Given the description of an element on the screen output the (x, y) to click on. 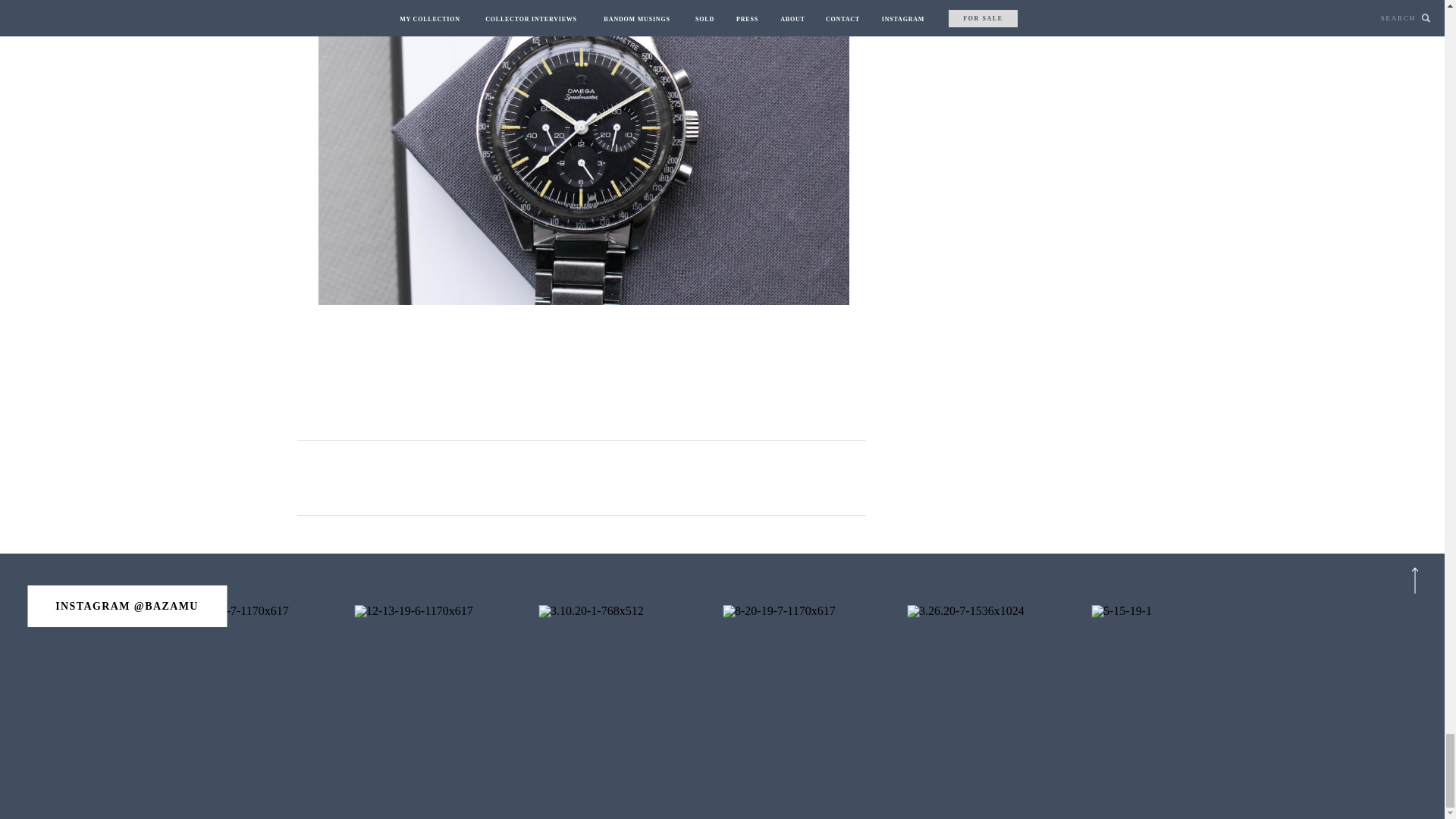
12-13-19-6-1170x617 (445, 697)
3.10.20-1-768x512 (630, 697)
10-25-19-7-1170x617 (261, 697)
8-20-19-7-1170x617 (814, 697)
5-15-19-1 (1182, 697)
3.26.20-7-1536x1024 (998, 697)
